Given the description of an element on the screen output the (x, y) to click on. 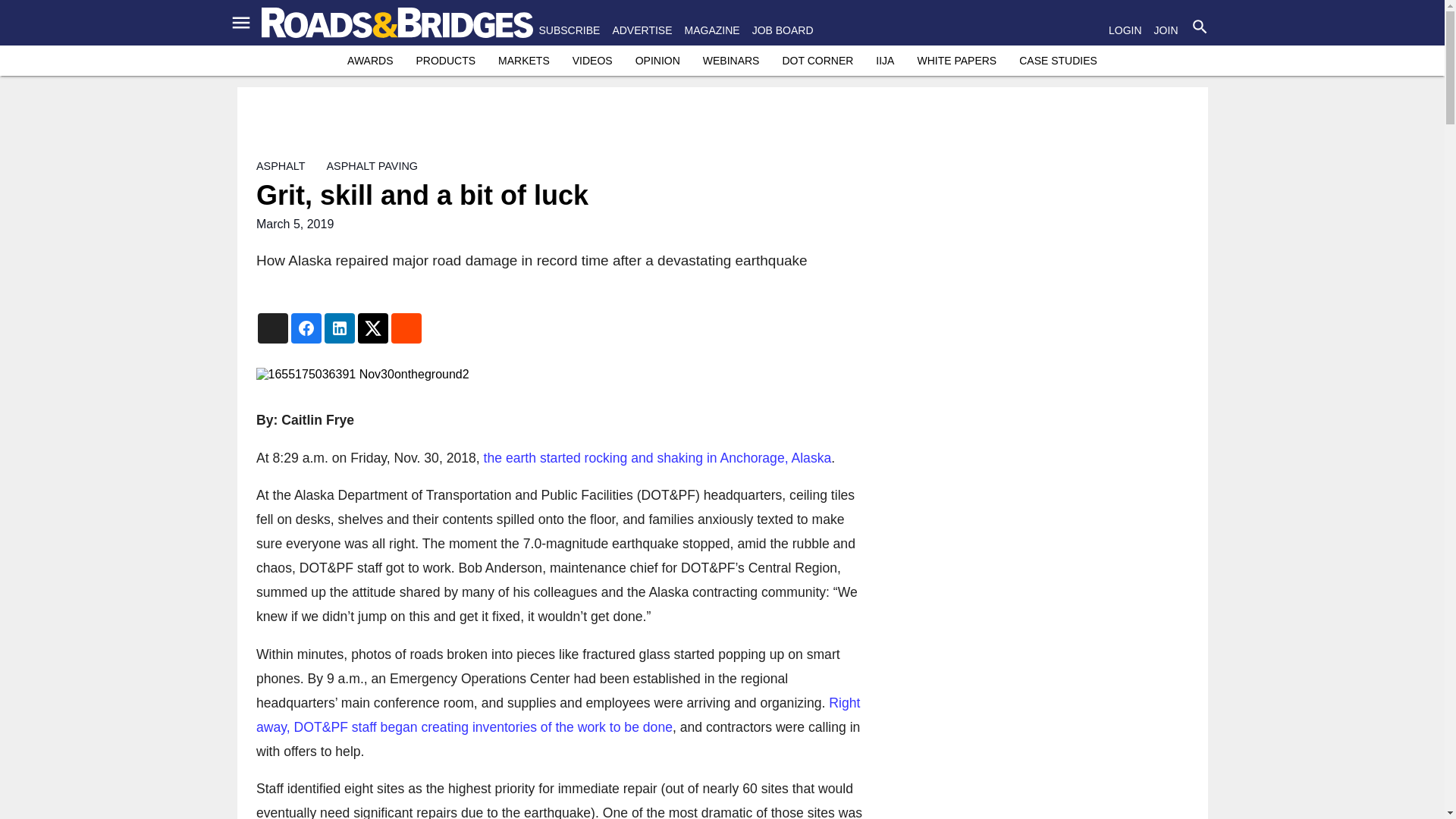
CASE STUDIES (1058, 60)
MARKETS (523, 60)
LOGIN (1124, 30)
1655175036391 Nov30ontheground2 (560, 374)
SUBSCRIBE (568, 30)
JOB BOARD (782, 30)
WHITE PAPERS (956, 60)
WEBINARS (731, 60)
AWARDS (370, 60)
VIDEOS (592, 60)
JOIN (1165, 30)
OPINION (656, 60)
ADVERTISE (641, 30)
PRODUCTS (445, 60)
IIJA (884, 60)
